Given the description of an element on the screen output the (x, y) to click on. 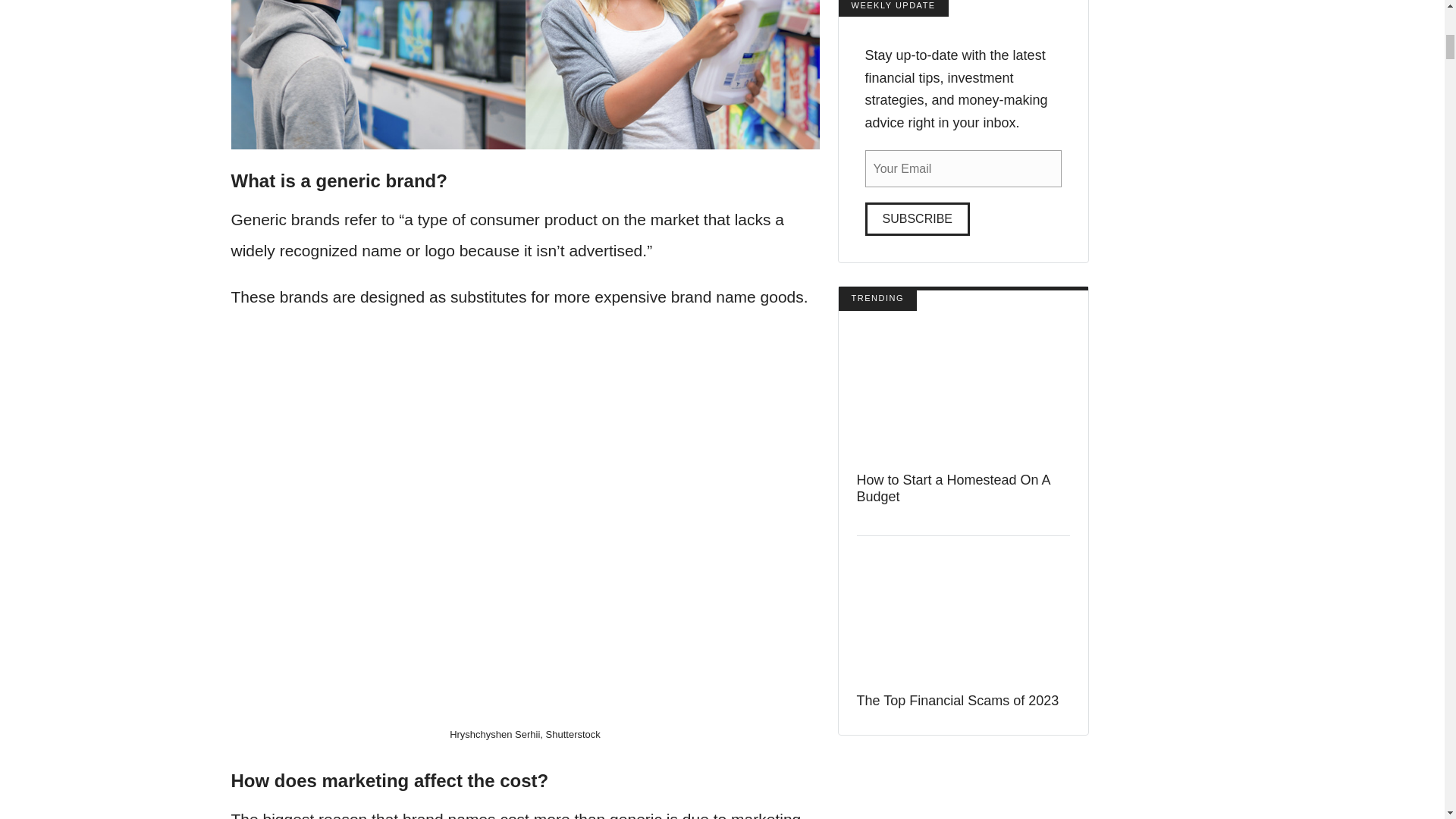
Hryshchyshen Serhii, Shutterstock (524, 734)
